Given the description of an element on the screen output the (x, y) to click on. 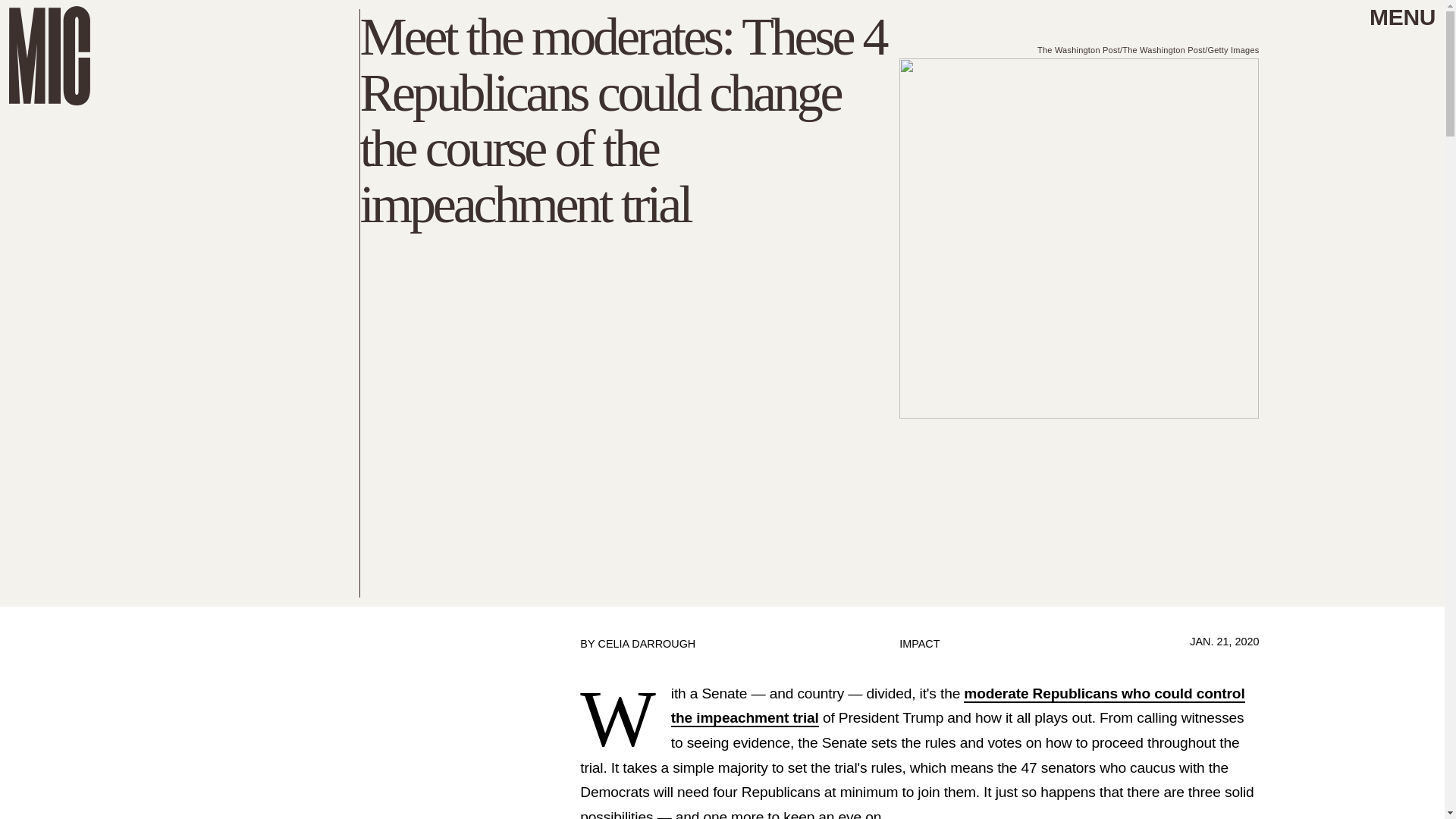
moderate Republicans who could control the impeachment trial (957, 706)
